Given the description of an element on the screen output the (x, y) to click on. 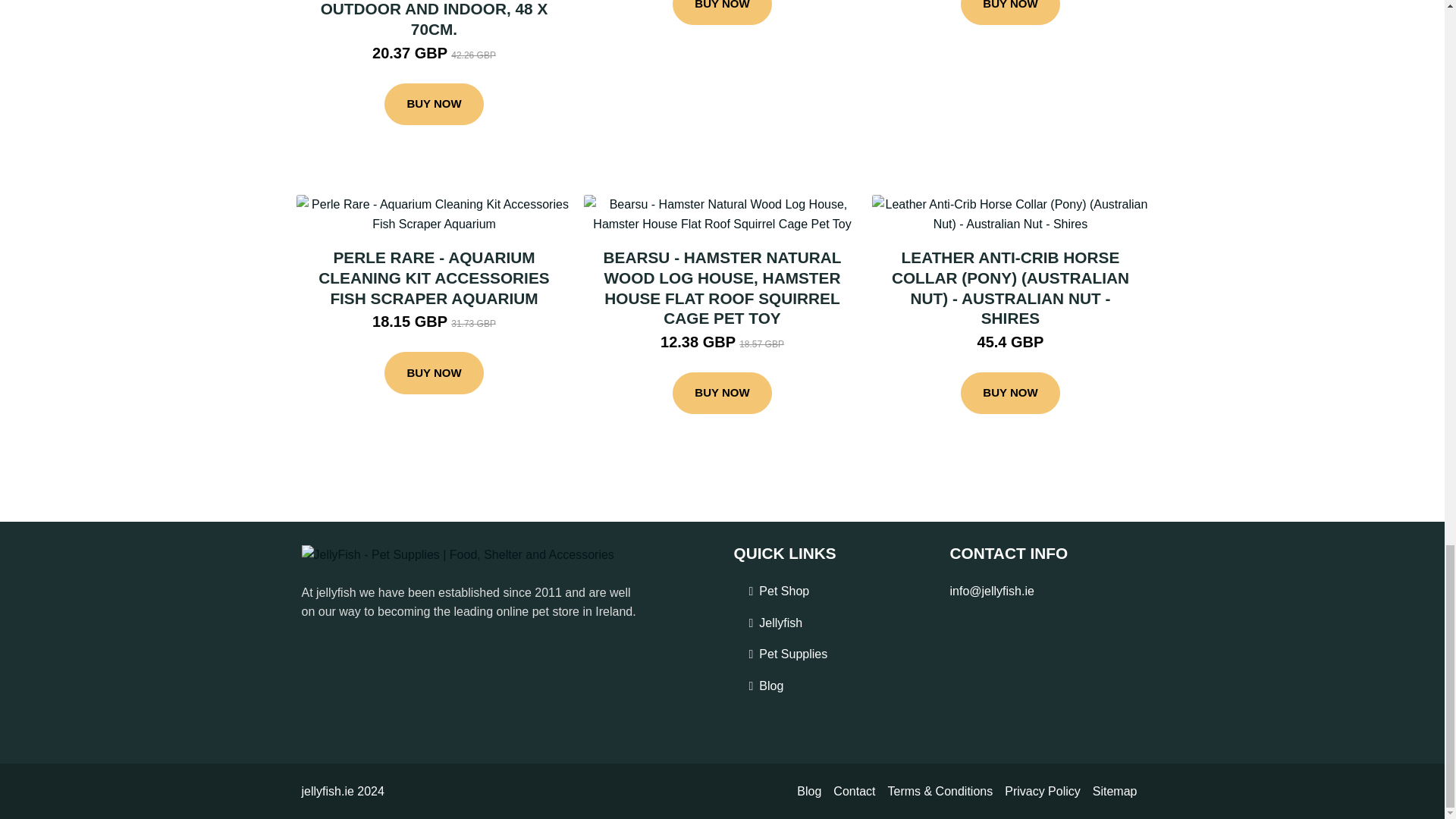
BUY NOW (721, 12)
BUY NOW (433, 104)
